Given the description of an element on the screen output the (x, y) to click on. 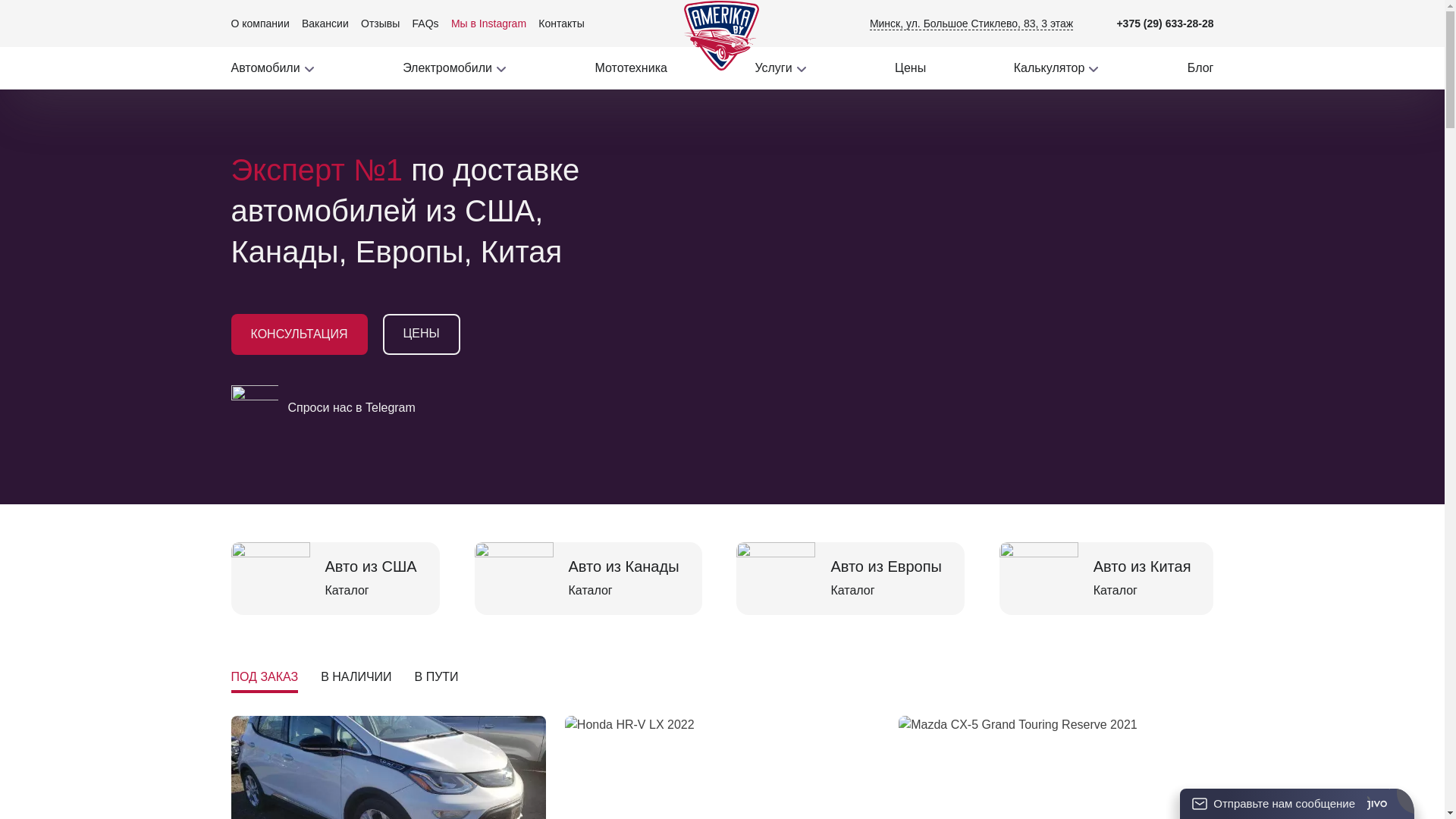
+375 (29) 633-28-28 Element type: text (1164, 22)
FAQs Element type: text (425, 22)
